Given the description of an element on the screen output the (x, y) to click on. 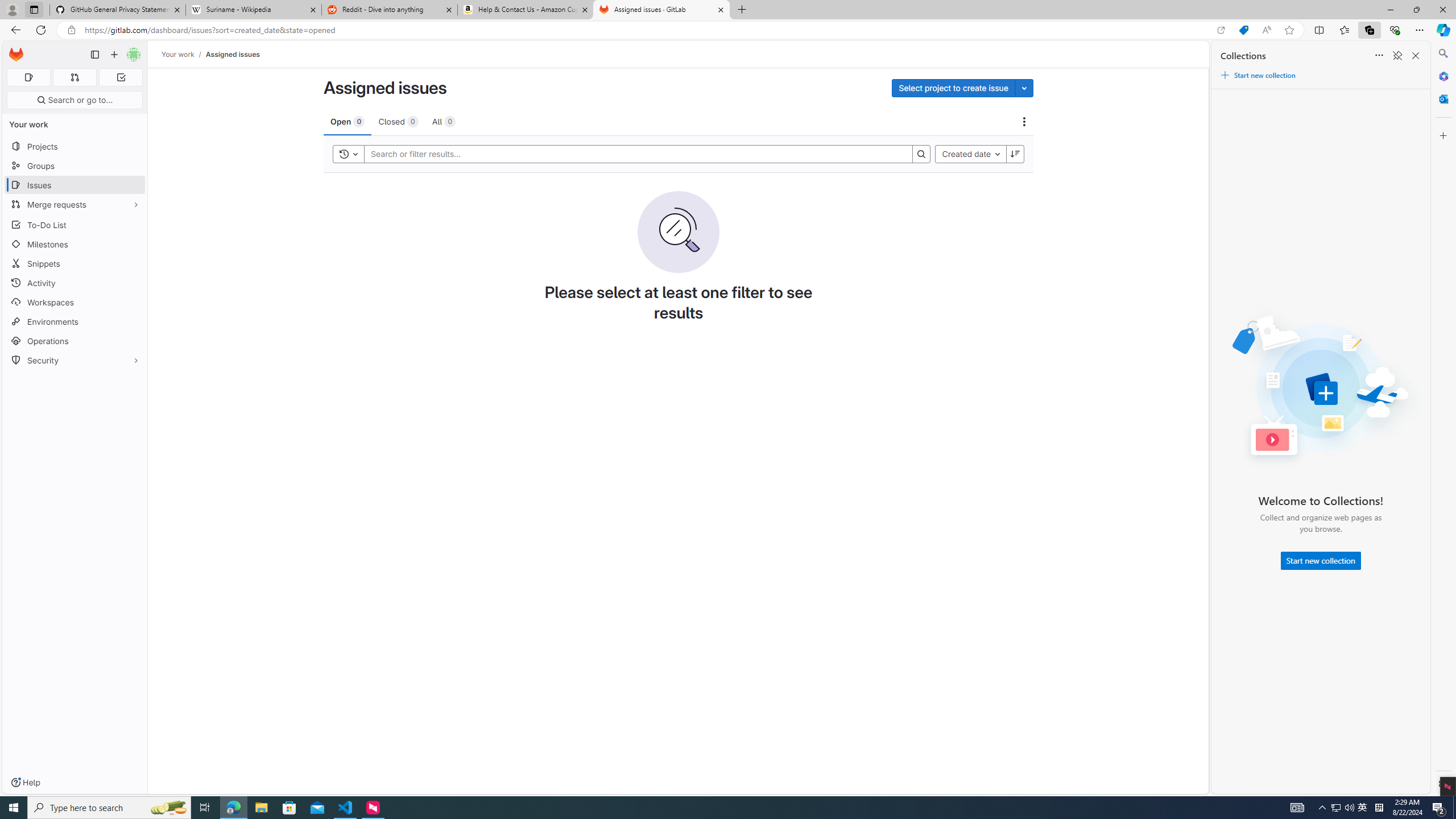
Assigned issues (232, 53)
Closed 0 (398, 121)
Issues (74, 185)
Security (74, 359)
Sort (1379, 55)
Your work (178, 53)
Merge requests (74, 203)
Help & Contact Us - Amazon Customer Service (525, 9)
Activity (74, 282)
